Given the description of an element on the screen output the (x, y) to click on. 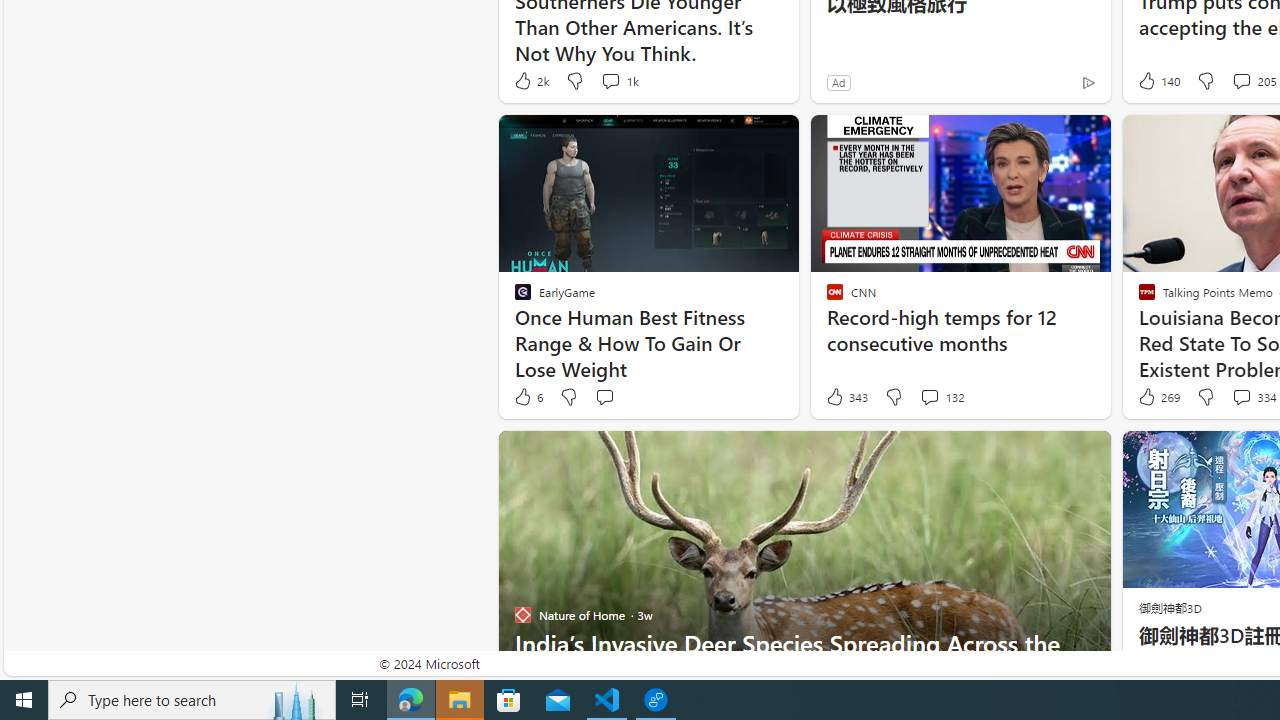
6 Like (527, 397)
2k Like (530, 80)
140 Like (1157, 80)
269 Like (1157, 397)
View comments 132 Comment (941, 397)
View comments 132 Comment (929, 396)
View comments 205 Comment (1241, 80)
Hide this story (1050, 454)
343 Like (845, 397)
View comments 1k Comment (618, 80)
